Given the description of an element on the screen output the (x, y) to click on. 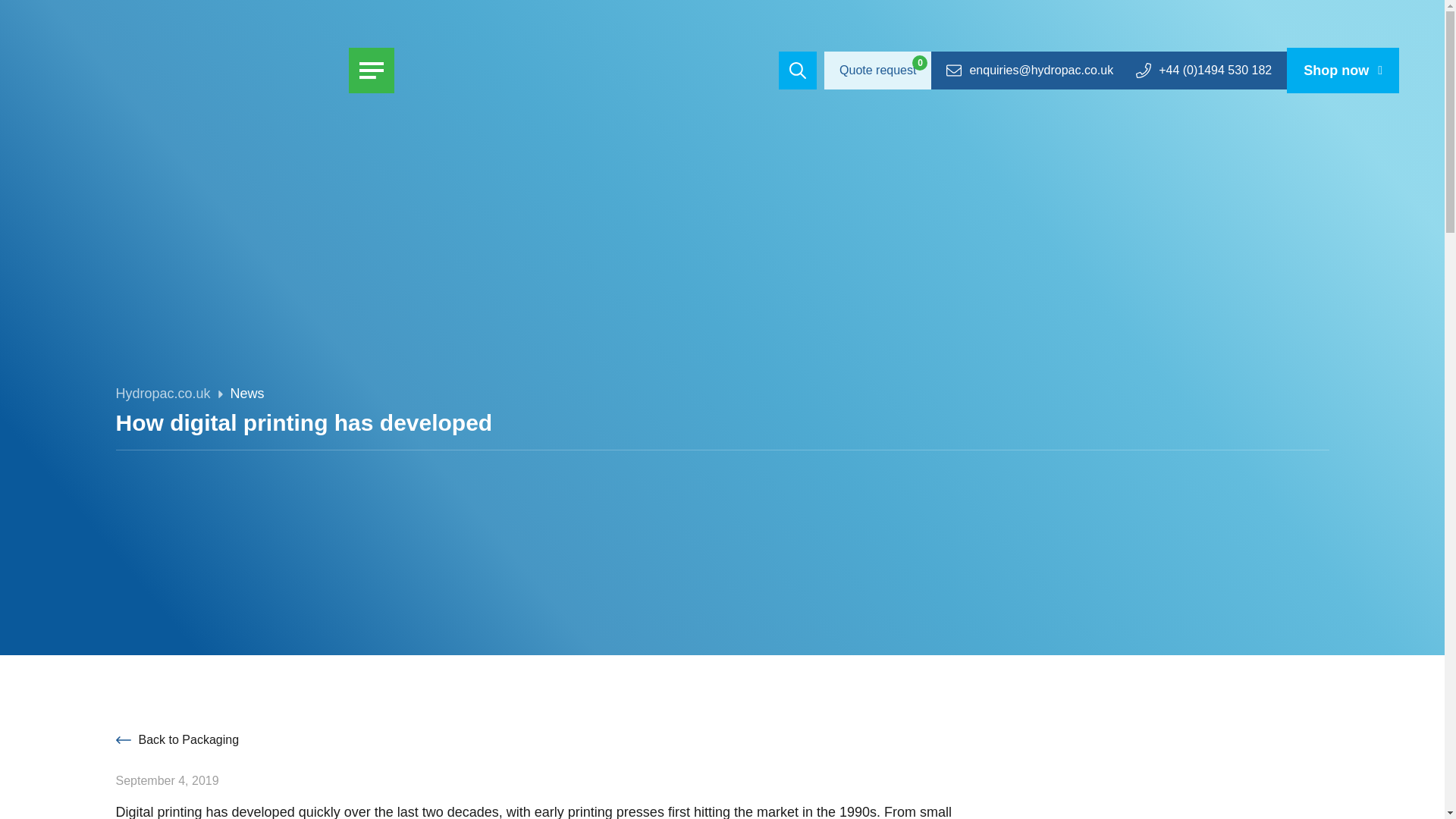
0 (919, 62)
Hydropac.co.uk (162, 394)
Back to Packaging (176, 739)
Shop now (1343, 70)
